Given the description of an element on the screen output the (x, y) to click on. 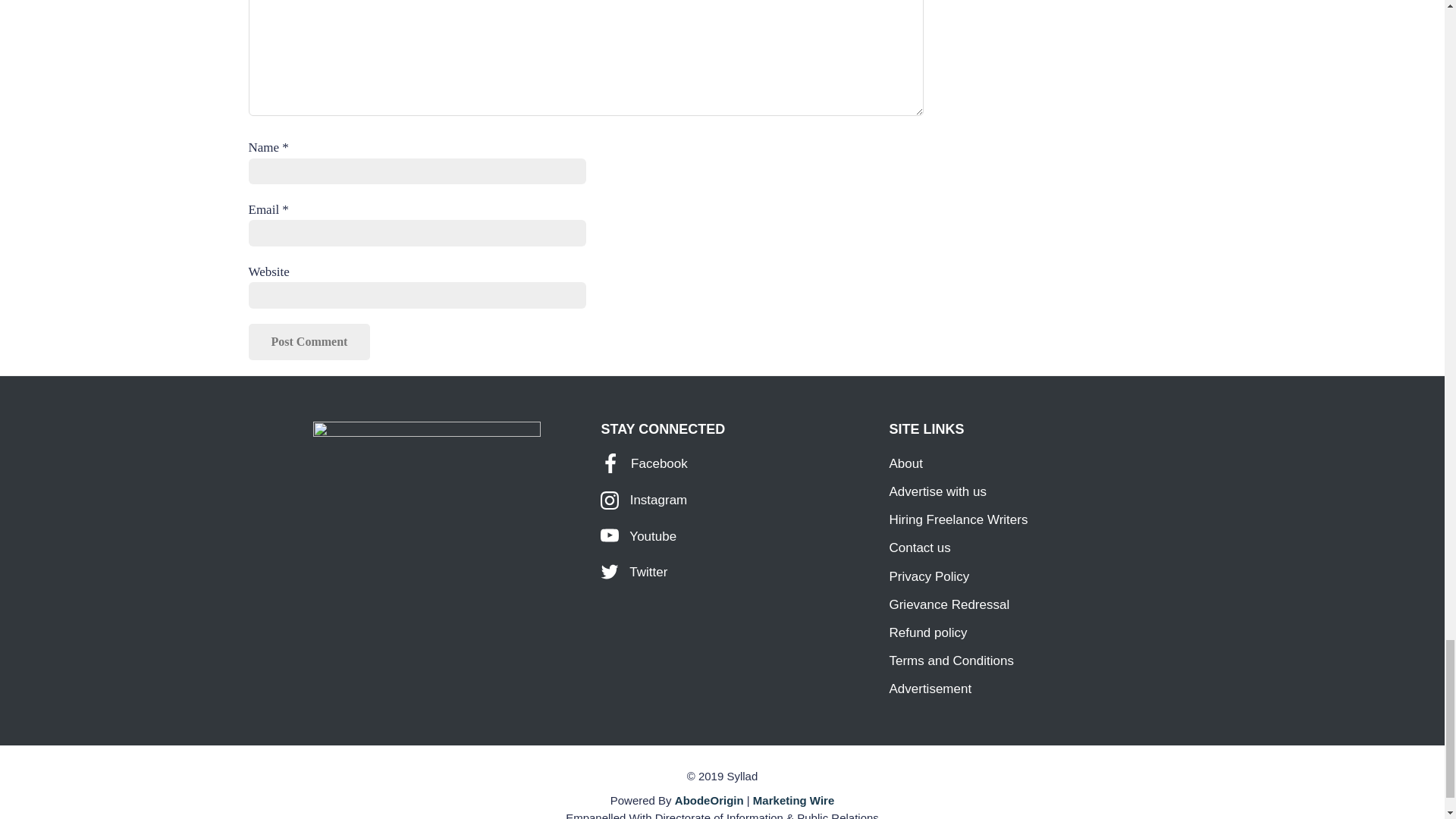
Advertise with us (937, 491)
   Twitter (632, 572)
Hiring Freelance Writers (957, 519)
About (904, 463)
Post Comment (309, 341)
   Instagram (643, 499)
Contact us (919, 547)
   Youtube (638, 536)
     Facebook (643, 463)
Post Comment (309, 341)
